Given the description of an element on the screen output the (x, y) to click on. 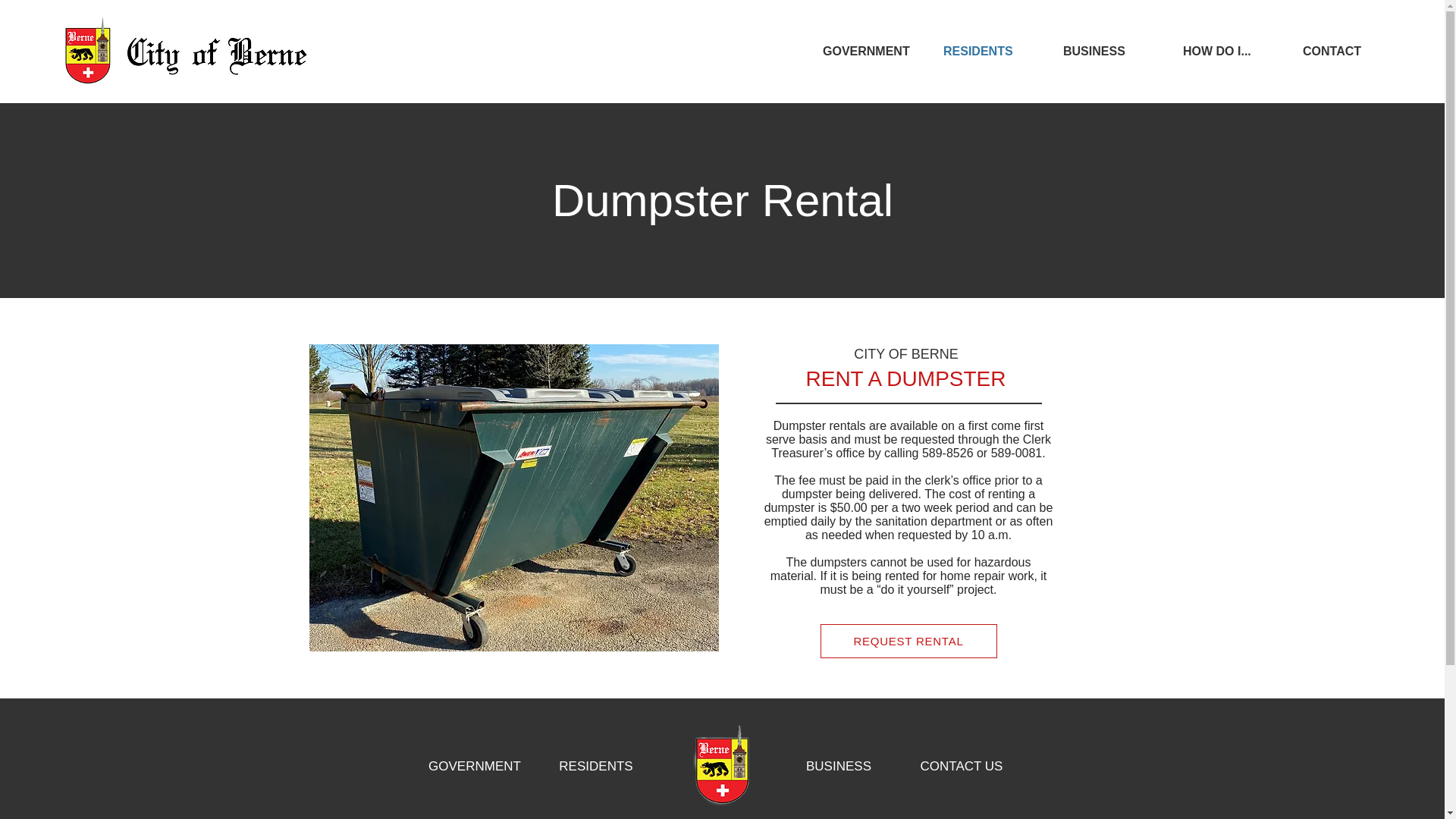
BUSINESS (1111, 51)
GOVERNMENT (474, 766)
CONTACT (1350, 51)
RESIDENTS (991, 51)
CONTACT US (961, 766)
BUSINESS (838, 766)
Berne Fire Department.jpeg (513, 497)
shield (722, 765)
GOVERNMENT (870, 51)
RESIDENTS (595, 766)
HOW DO I... (1231, 51)
REQUEST RENTAL (909, 641)
